Given the description of an element on the screen output the (x, y) to click on. 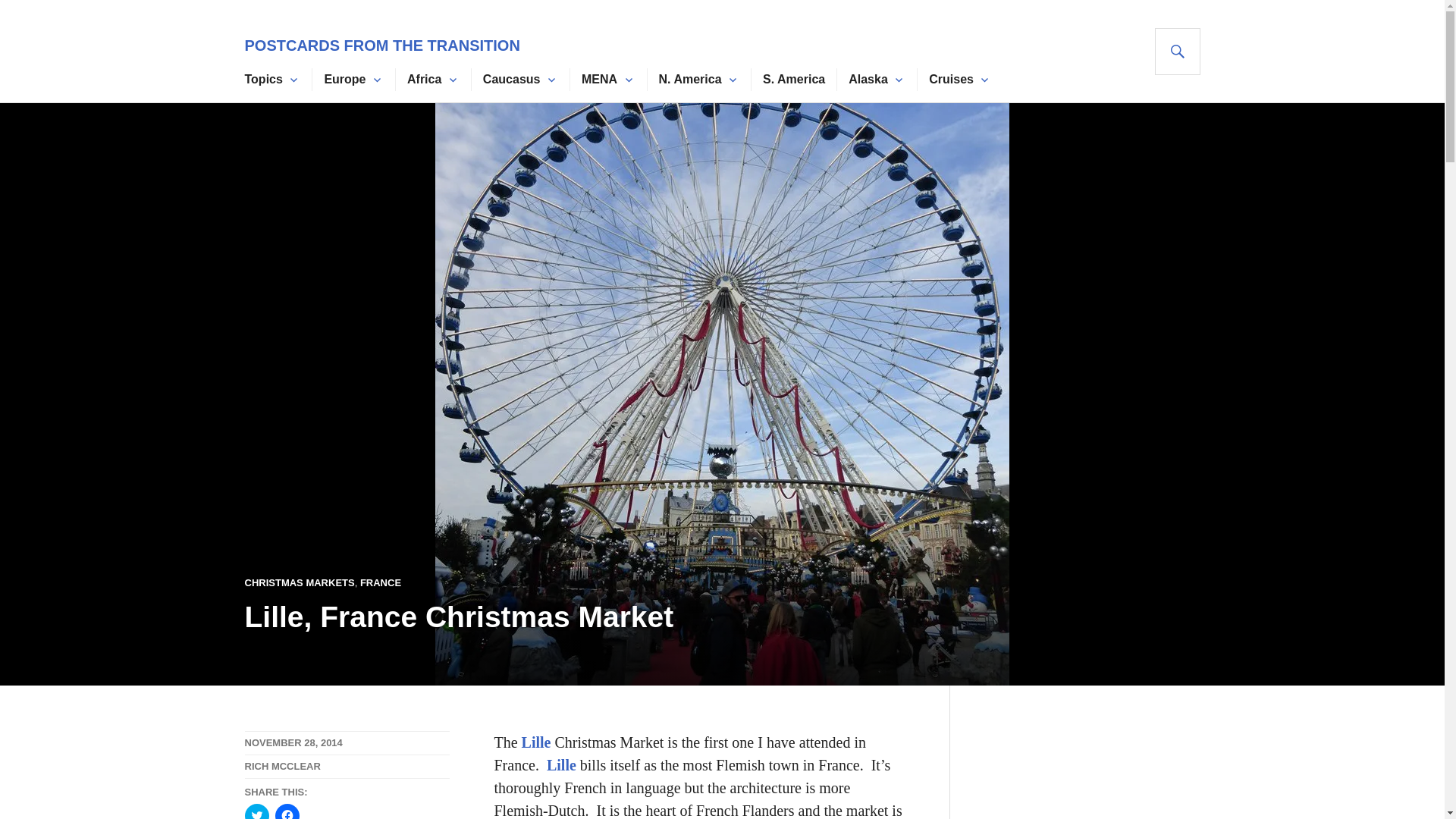
Click to share on Facebook (286, 811)
Topics (263, 78)
Click to share on Twitter (255, 811)
Europe (344, 78)
POSTCARDS FROM THE TRANSITION (381, 45)
